Given the description of an element on the screen output the (x, y) to click on. 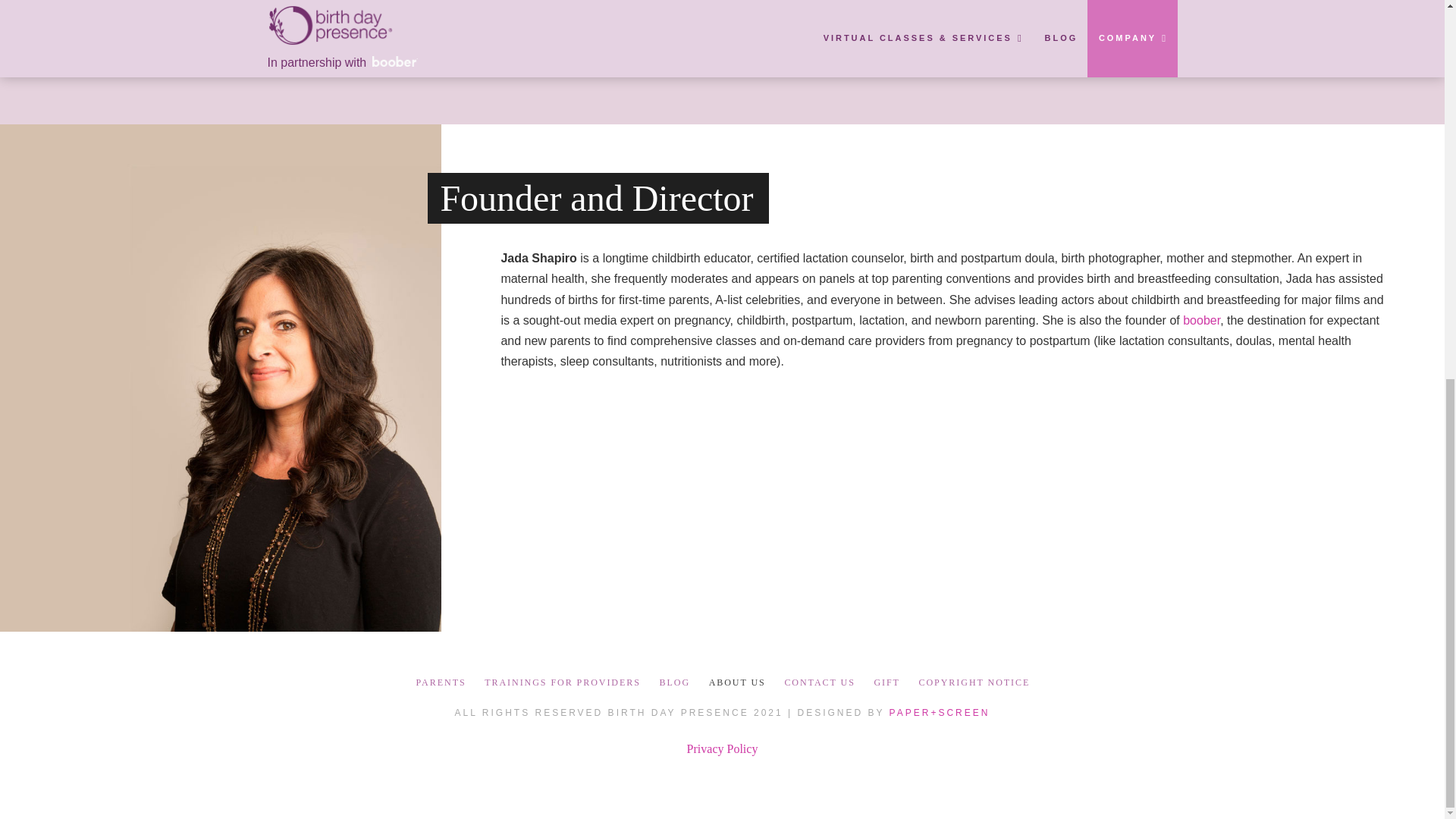
boober (1201, 319)
COPYRIGHT NOTICE (973, 682)
Privacy Policy  (722, 748)
GIFT (885, 682)
ABOUT US (736, 682)
TRAININGS FOR PROVIDERS (561, 682)
BLOG (673, 682)
CONTACT US (818, 682)
PARENTS (440, 682)
